Given the description of an element on the screen output the (x, y) to click on. 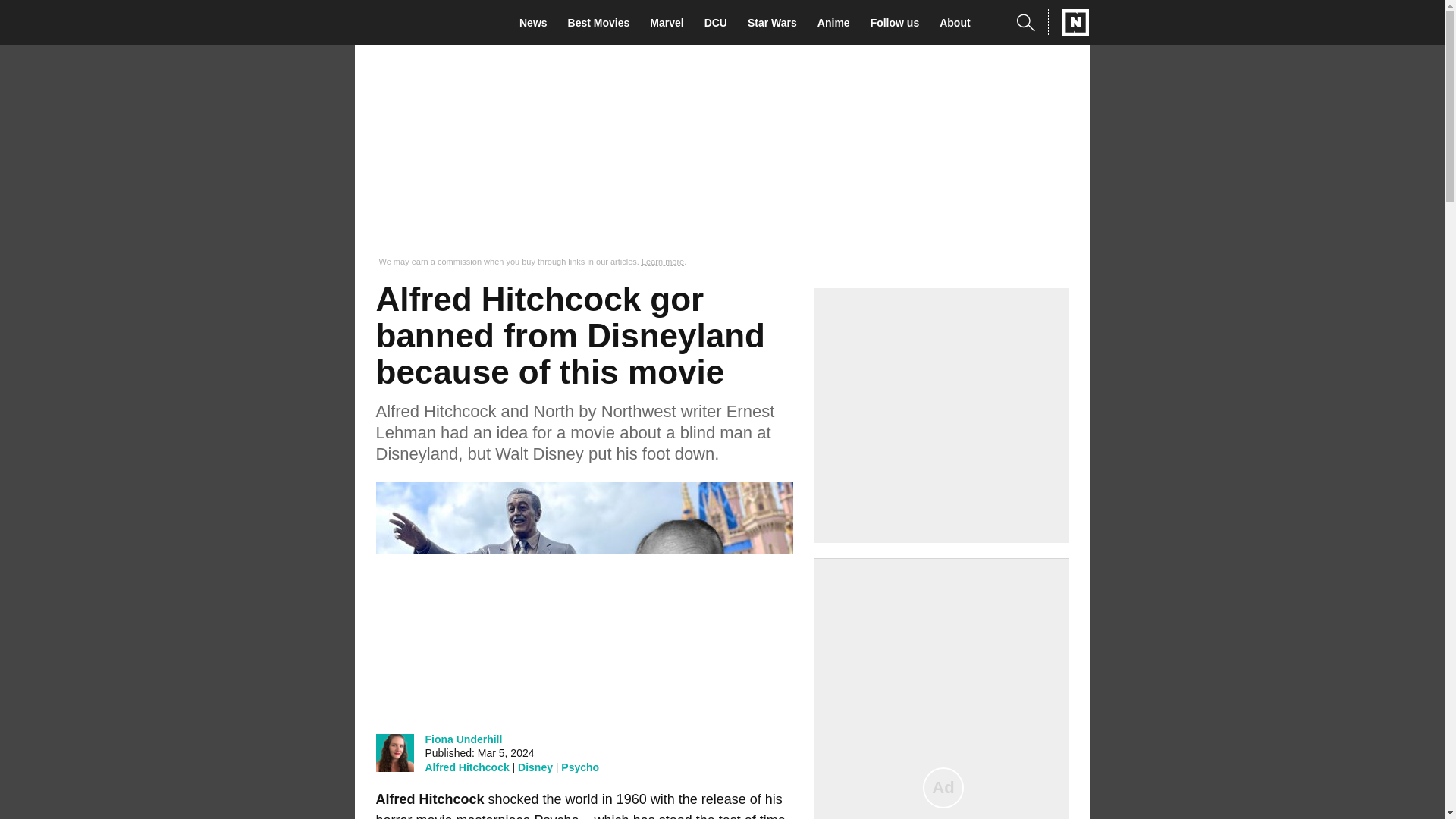
Star Wars (777, 22)
Follow us (899, 22)
Marvel Cinematic Universe News (671, 22)
Marvel (671, 22)
Anime News (837, 22)
Alfred Hitchcock (466, 767)
Disney (535, 767)
Best Movies (603, 22)
The Digital Fix (424, 22)
Learn more (663, 261)
